Given the description of an element on the screen output the (x, y) to click on. 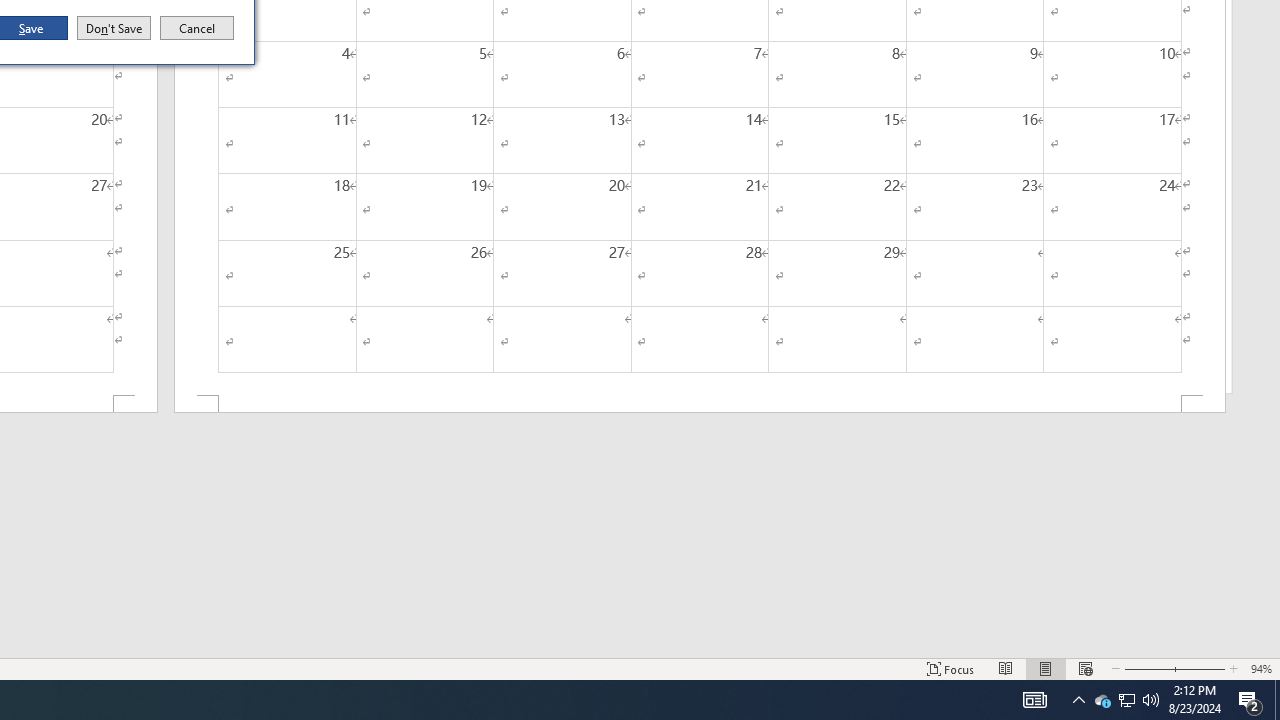
Show desktop (1277, 699)
Don't Save (113, 27)
